Given the description of an element on the screen output the (x, y) to click on. 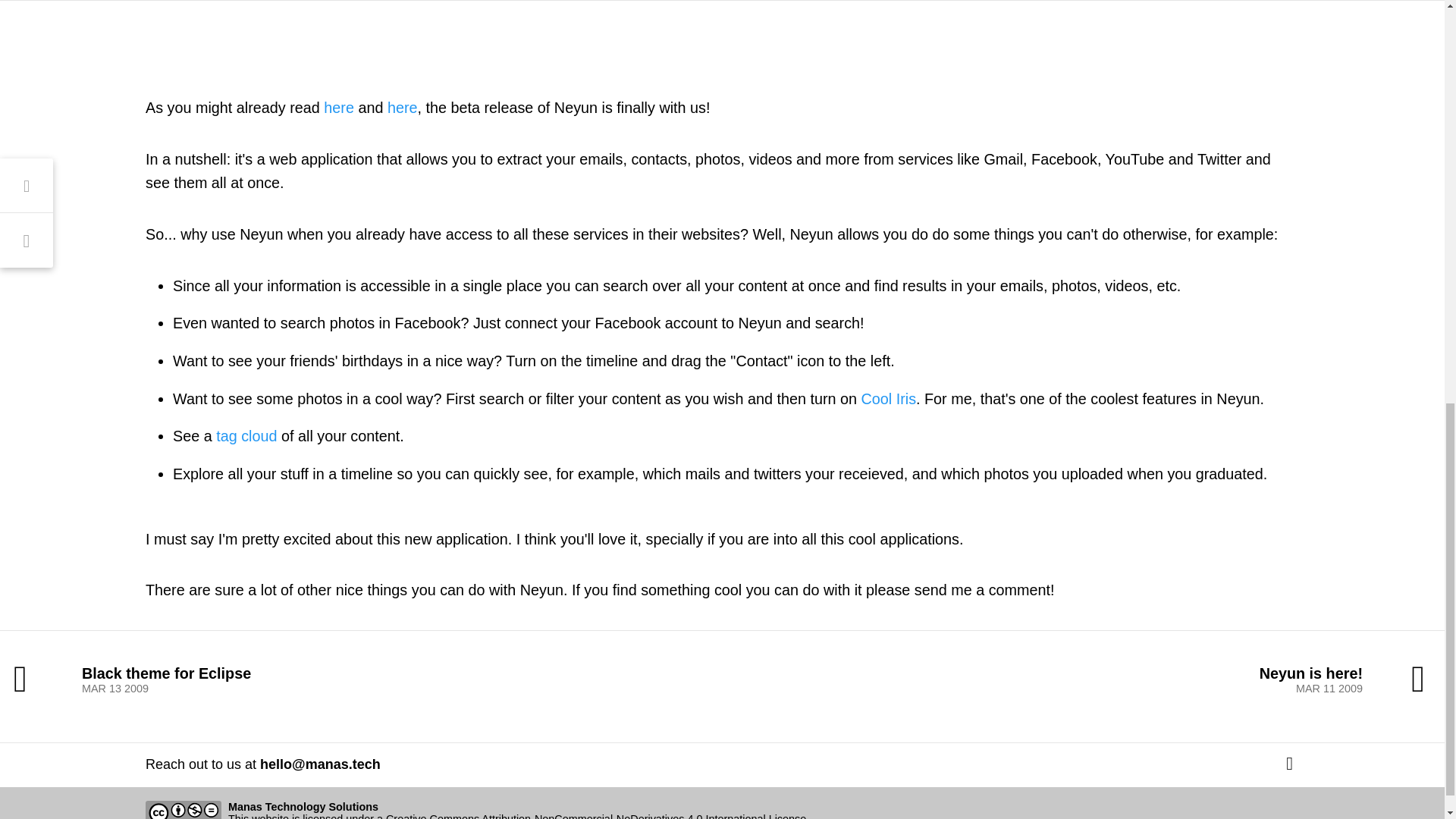
Manas Technology Solutions (397, 679)
here (303, 806)
tag cloud (402, 107)
here (1047, 679)
Cool Iris (245, 435)
